Given the description of an element on the screen output the (x, y) to click on. 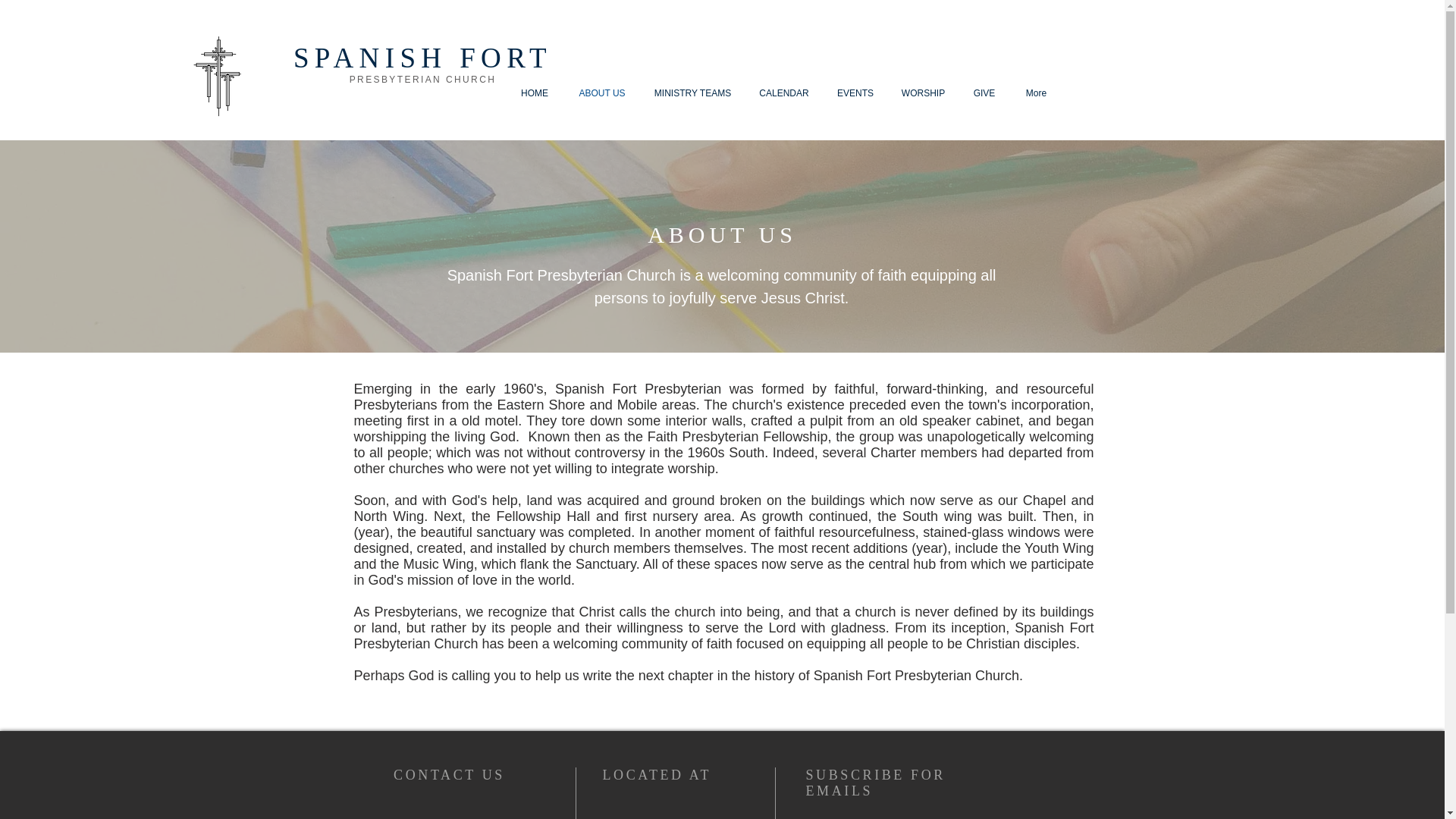
MINISTRY TEAMS (692, 93)
WORSHIP (922, 93)
ABOUT US (602, 93)
EVENTS (856, 93)
GIVE (983, 93)
CALENDAR (783, 93)
SPANISH FORT (422, 57)
HOME (534, 93)
